Given the description of an element on the screen output the (x, y) to click on. 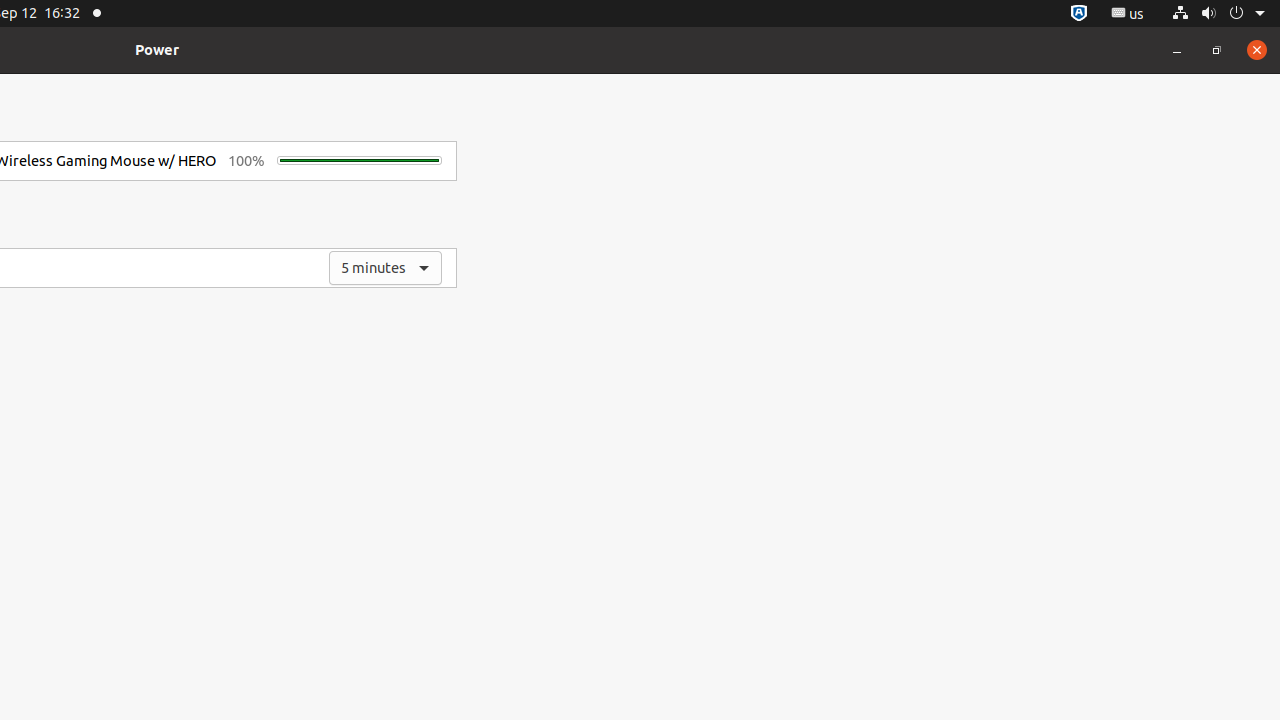
5 minutes Element type: combo-box (385, 268)
Restore Element type: push-button (1217, 50)
Power Element type: label (157, 49)
